Given the description of an element on the screen output the (x, y) to click on. 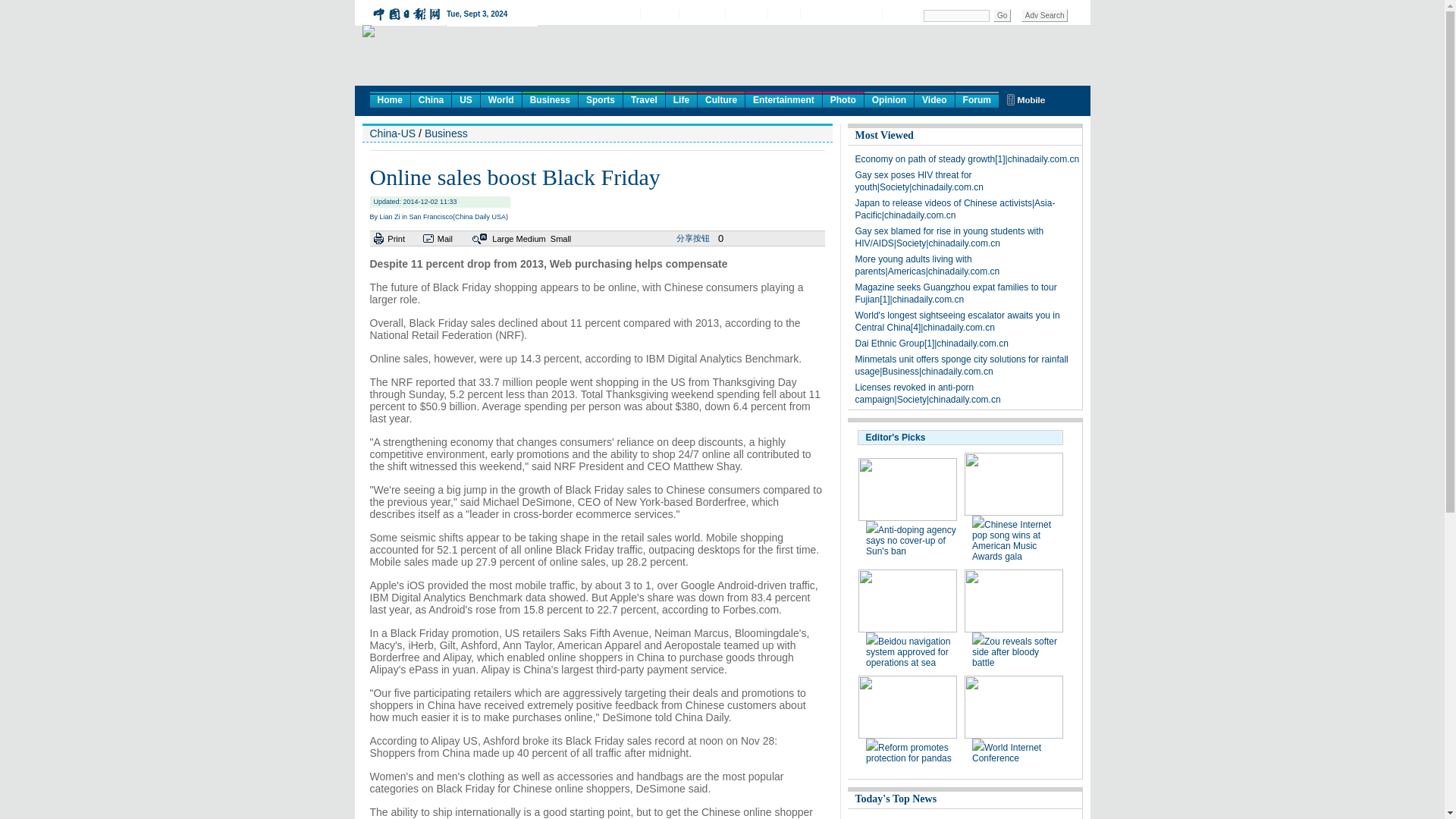
World (500, 99)
Sports (600, 99)
Business (550, 99)
Travel (644, 99)
US (465, 99)
China (430, 99)
Home (389, 99)
